Given the description of an element on the screen output the (x, y) to click on. 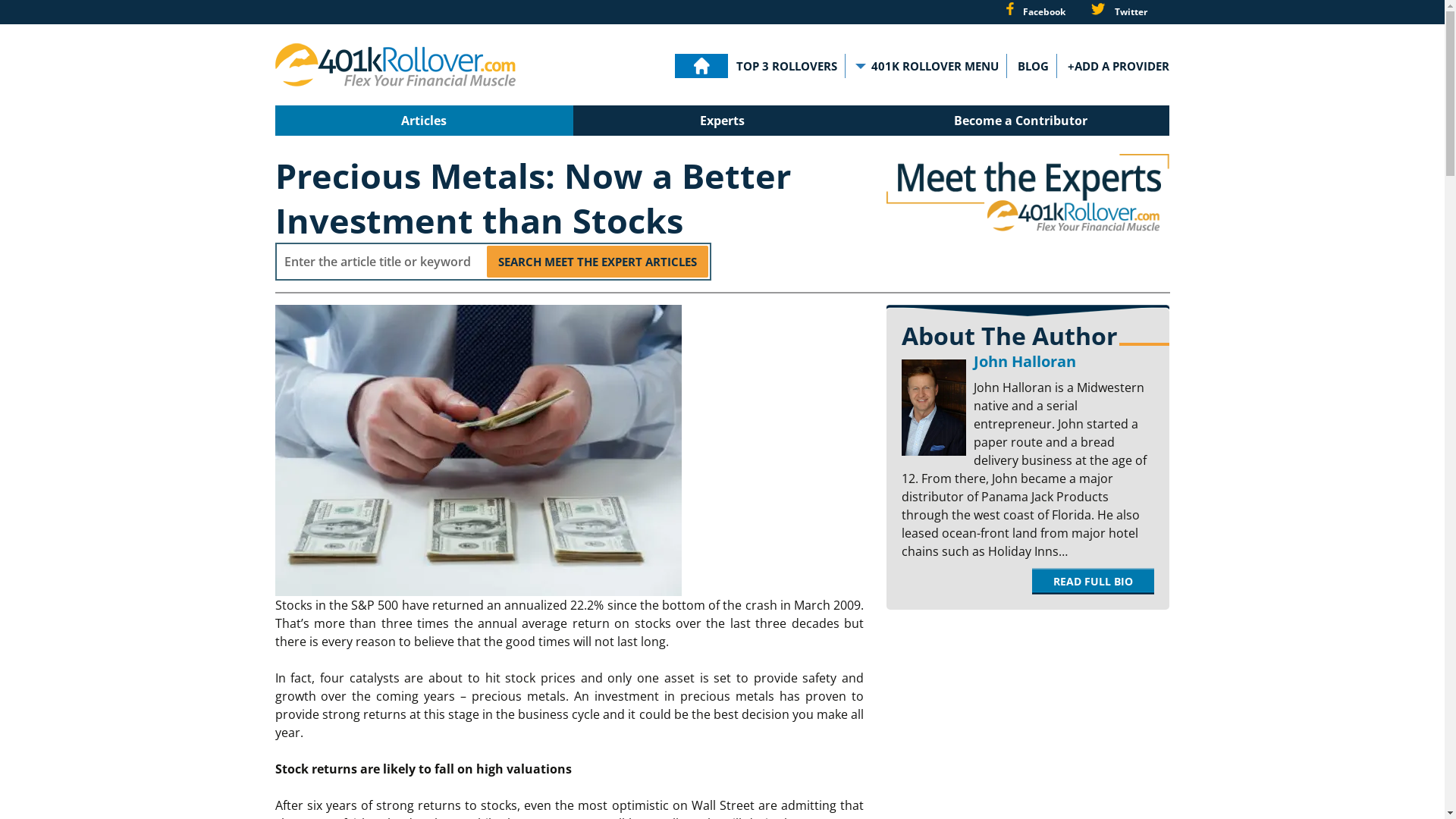
Articles Element type: text (423, 120)
+ADD A PROVIDER Element type: text (1118, 65)
READ FULL BIO Element type: text (1093, 580)
Twitter Element type: text (1118, 11)
401kRollover Element type: hover (394, 63)
Search Meet the Expert Articles Element type: text (597, 261)
HOME Element type: text (701, 65)
Facebook Element type: text (1034, 11)
Experts Element type: text (722, 120)
Become a Contributor Element type: text (1020, 120)
401K ROLLOVER MENU Element type: text (928, 65)
BLOG Element type: text (1032, 65)
TOP 3 ROLLOVERS Element type: text (786, 65)
